Given the description of an element on the screen output the (x, y) to click on. 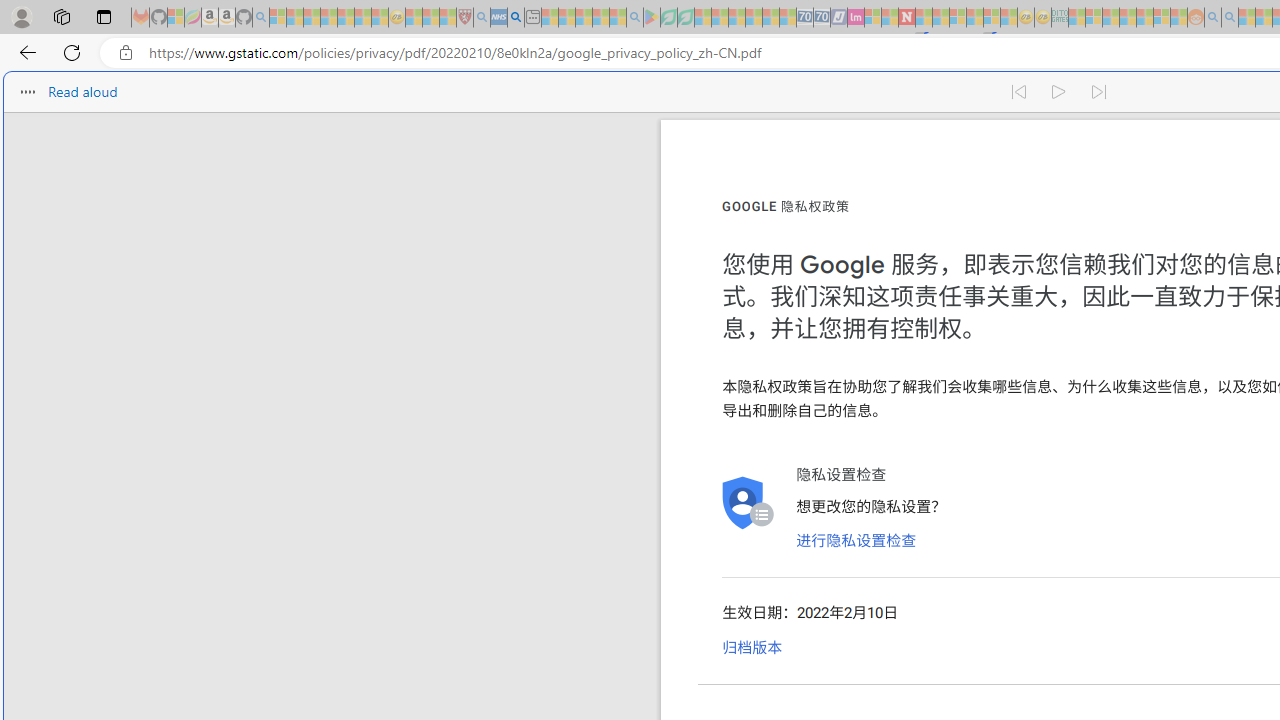
Read previous paragraph (1018, 92)
Utah sues federal government - Search - Sleeping (1229, 17)
Local - MSN - Sleeping (447, 17)
The Weather Channel - MSN - Sleeping (311, 17)
Terms of Use Agreement - Sleeping (668, 17)
Latest Politics News & Archive | Newsweek.com - Sleeping (906, 17)
Kinda Frugal - MSN - Sleeping (1144, 17)
